Given the description of an element on the screen output the (x, y) to click on. 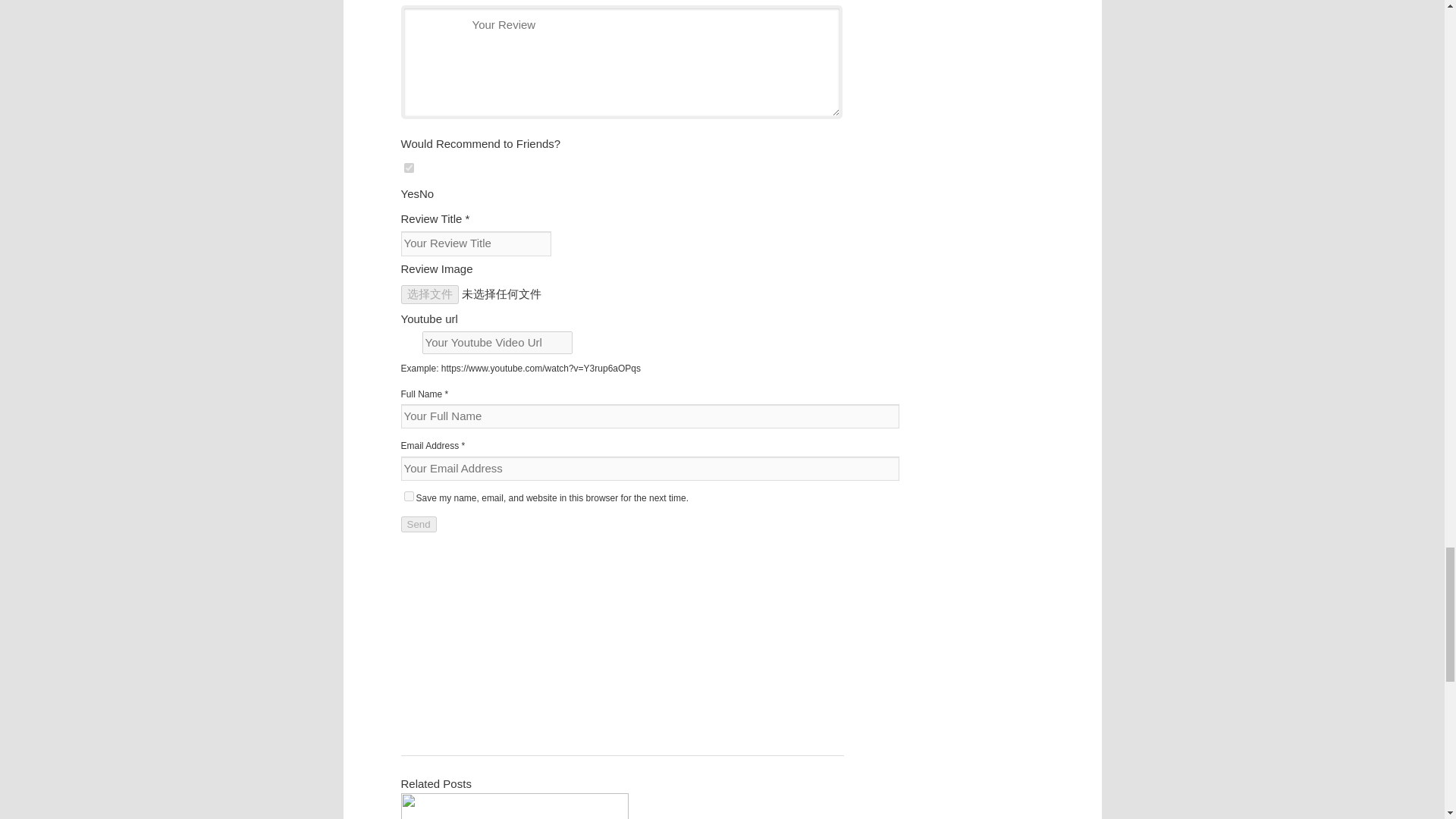
1 (408, 167)
yes (408, 496)
Send (417, 524)
